Given the description of an element on the screen output the (x, y) to click on. 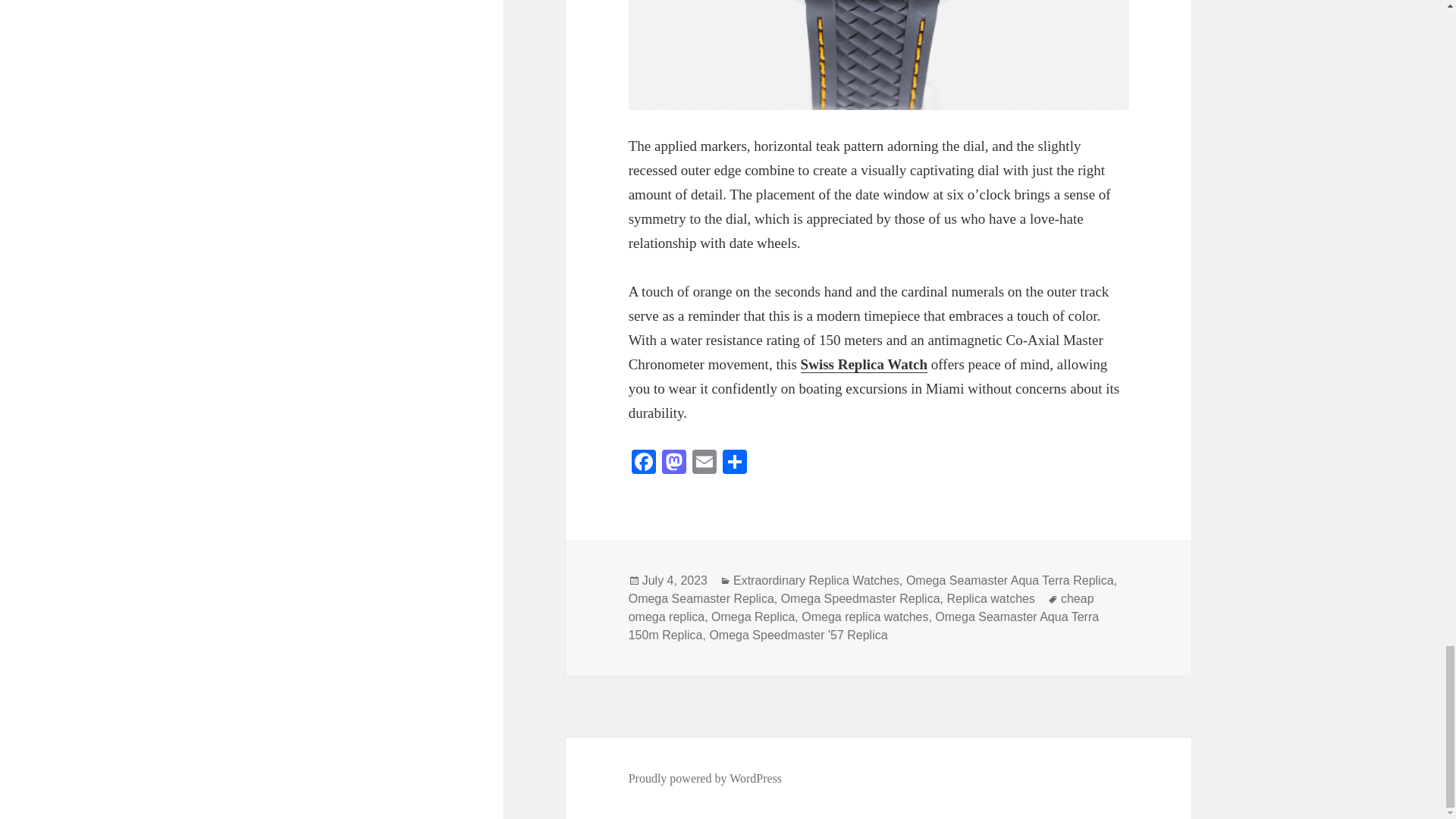
Email (703, 463)
Mastodon (673, 463)
Facebook (643, 463)
